Given the description of an element on the screen output the (x, y) to click on. 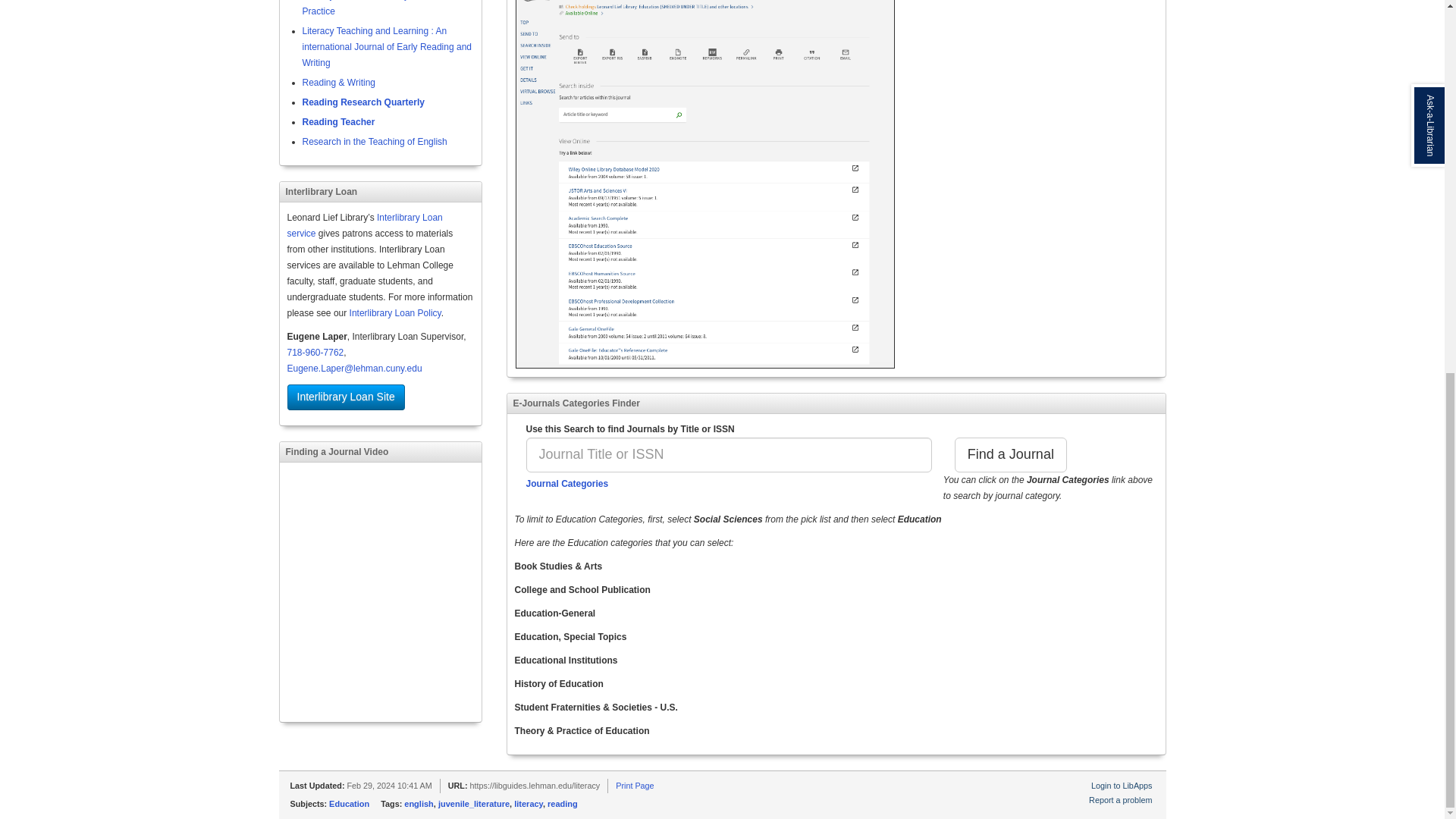
Find a Journal (1011, 454)
Literacy Research: Theory, Method, and Practice (382, 8)
Research in the Teaching of English (373, 141)
718-960-7762 (314, 352)
Interlibrary Loan Policy (395, 312)
Search (1011, 454)
Journal Categories (566, 483)
Reading Teacher (337, 122)
Interlibrary Loan Site (345, 397)
Interlibrary Loan service (364, 225)
Reading Research Quarterly (362, 102)
